Given the description of an element on the screen output the (x, y) to click on. 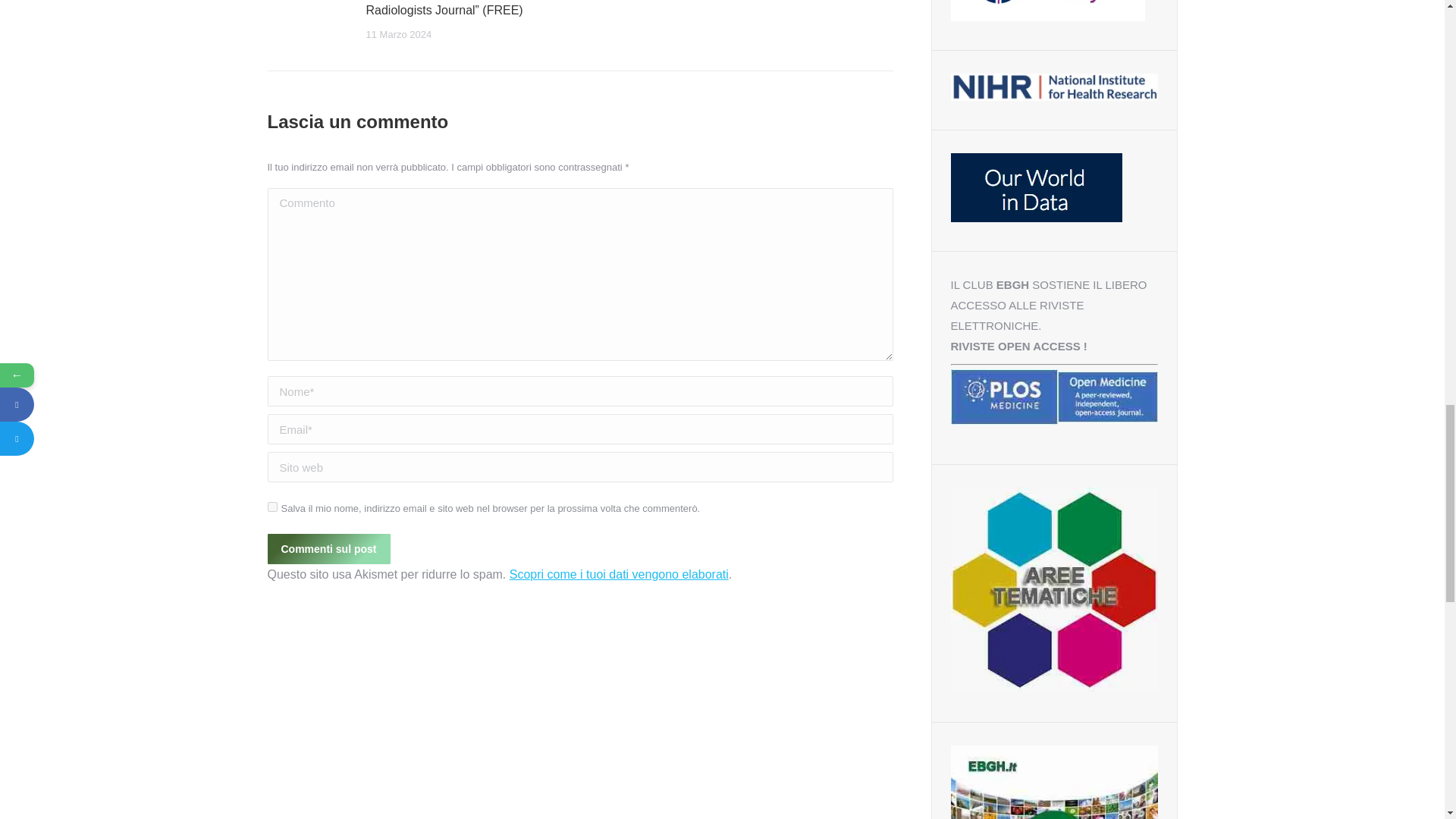
yes (271, 506)
